Given the description of an element on the screen output the (x, y) to click on. 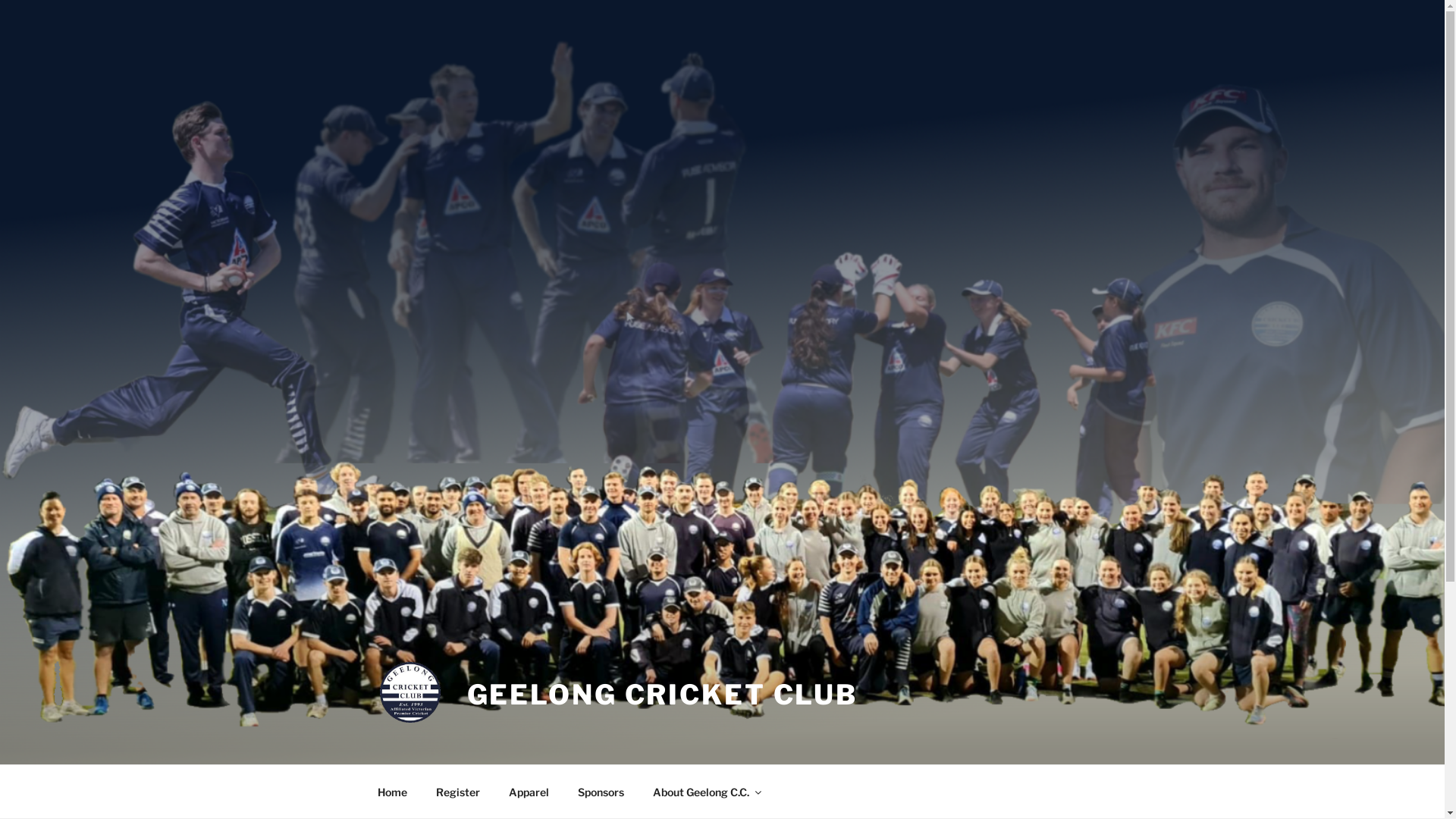
Register Element type: text (458, 791)
Sponsors Element type: text (600, 791)
Apparel Element type: text (528, 791)
About Geelong C.C. Element type: text (706, 791)
Home Element type: text (392, 791)
GEELONG CRICKET CLUB Element type: text (662, 694)
